Given the description of an element on the screen output the (x, y) to click on. 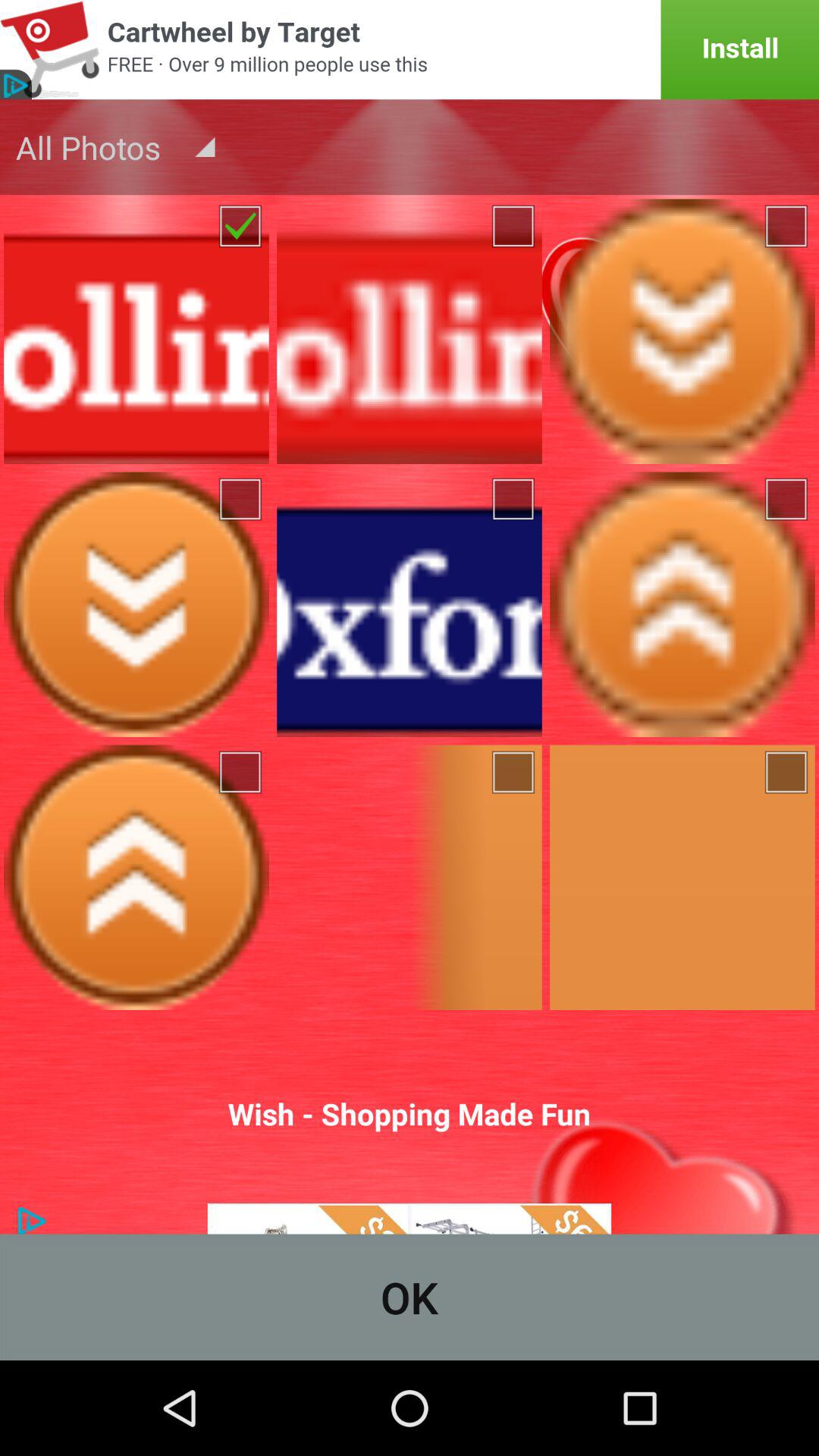
click downward arrow (681, 331)
click on the button above ok (409, 1129)
select the first image in second row (136, 603)
click on third row of second image check box (515, 771)
select first check box which is at second row (242, 499)
